Given the description of an element on the screen output the (x, y) to click on. 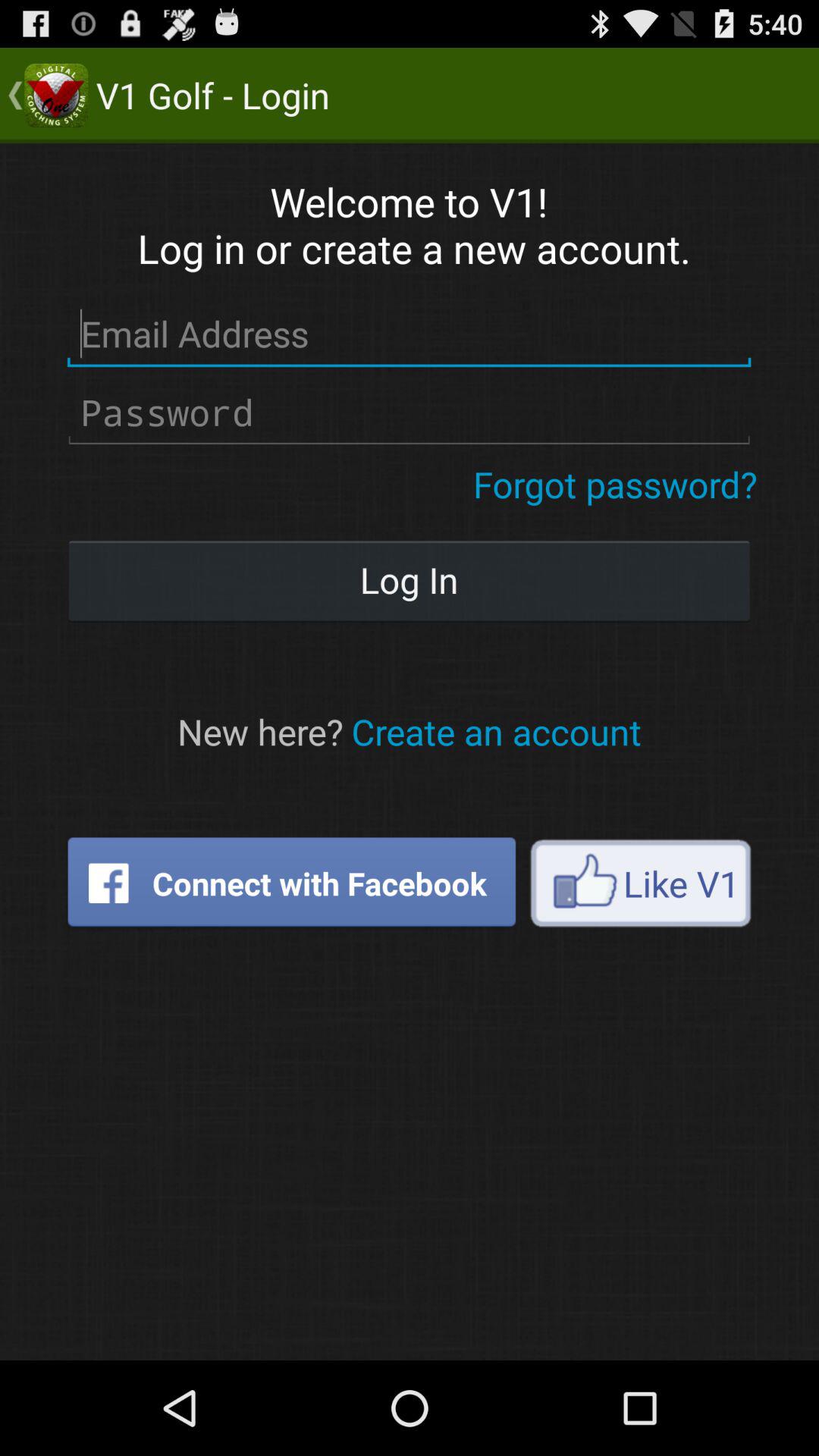
select forgot password? (615, 484)
